Given the description of an element on the screen output the (x, y) to click on. 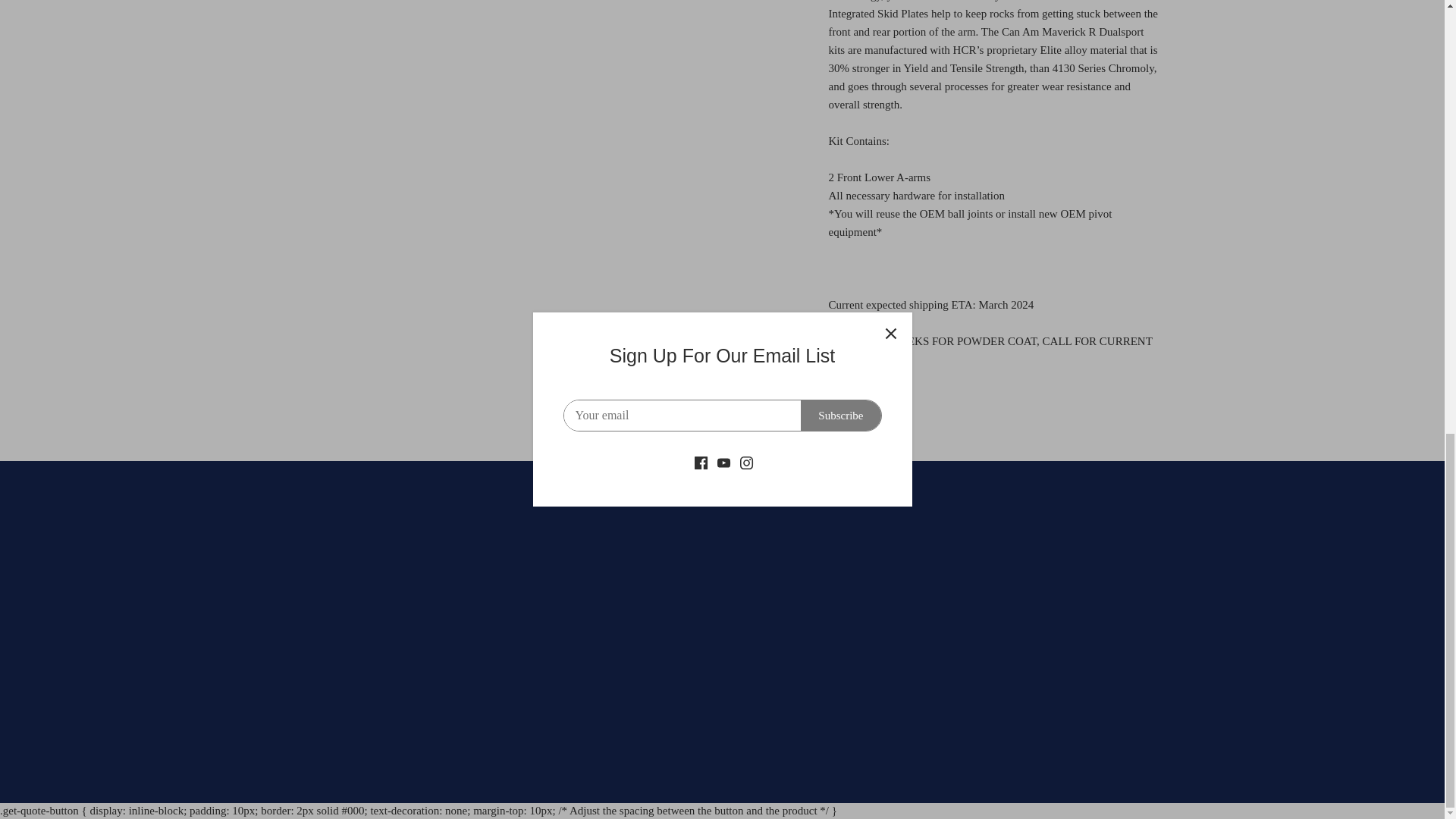
Get a Quote (864, 409)
